Given the description of an element on the screen output the (x, y) to click on. 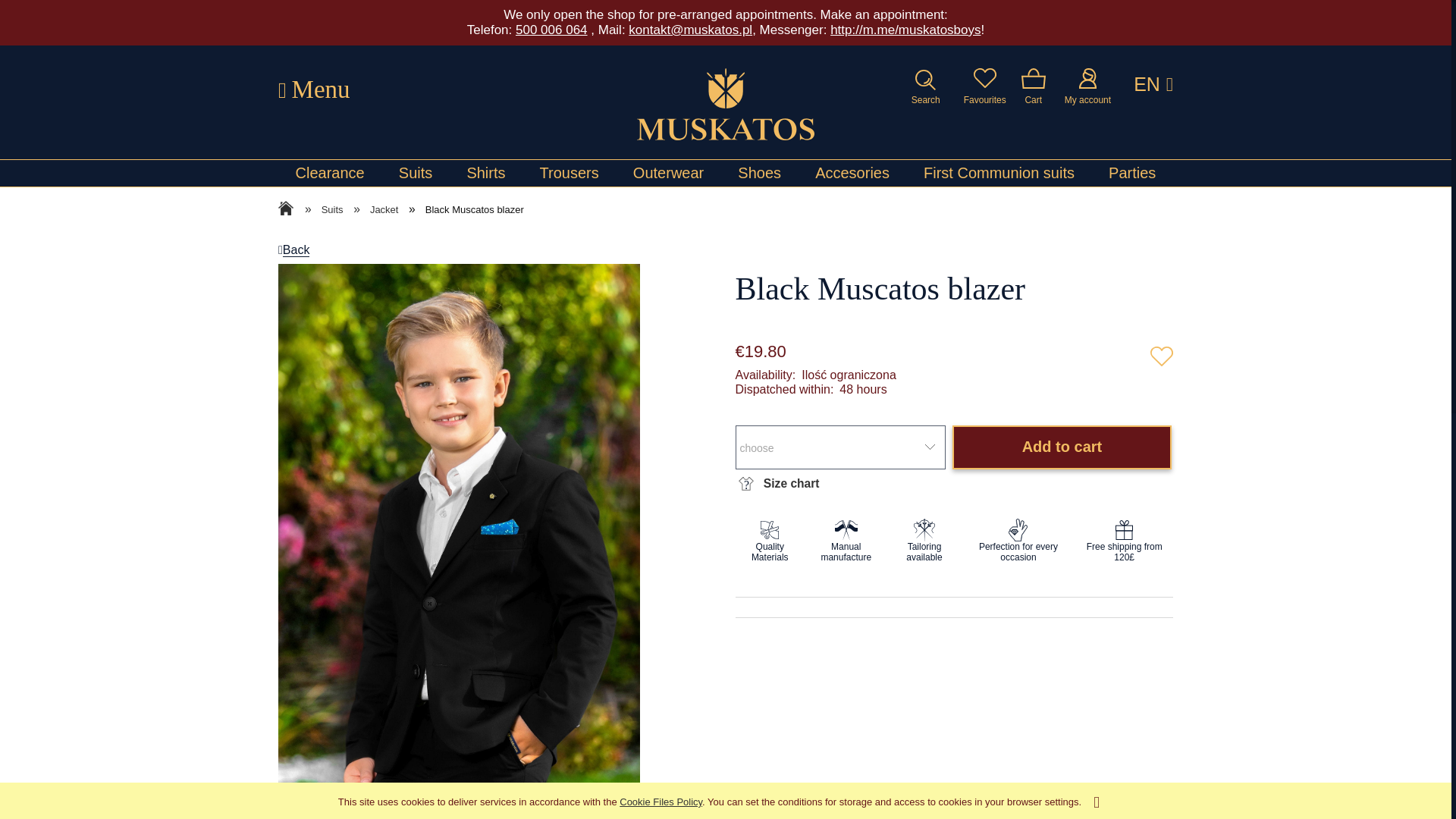
Trousers (569, 172)
Menu (314, 89)
Shirts (485, 172)
Suits (415, 172)
Suits (415, 172)
500 006 064 (551, 29)
Home page (725, 103)
Outerwear (668, 172)
Clearance (330, 172)
Favourites (984, 86)
Shoes (759, 172)
Shirts (485, 172)
Accesories (852, 172)
My account (1087, 86)
Search (925, 86)
